Given the description of an element on the screen output the (x, y) to click on. 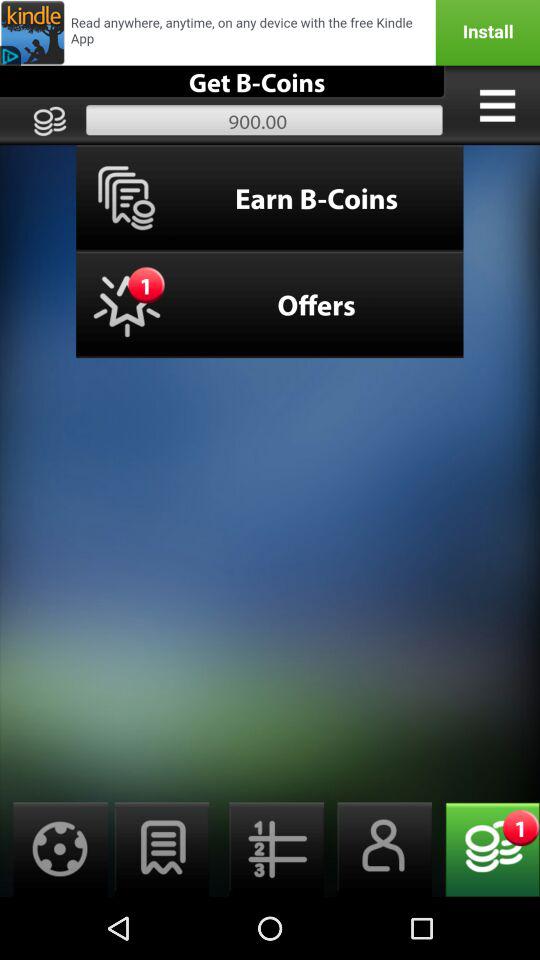
opens up account page (378, 849)
